Given the description of an element on the screen output the (x, y) to click on. 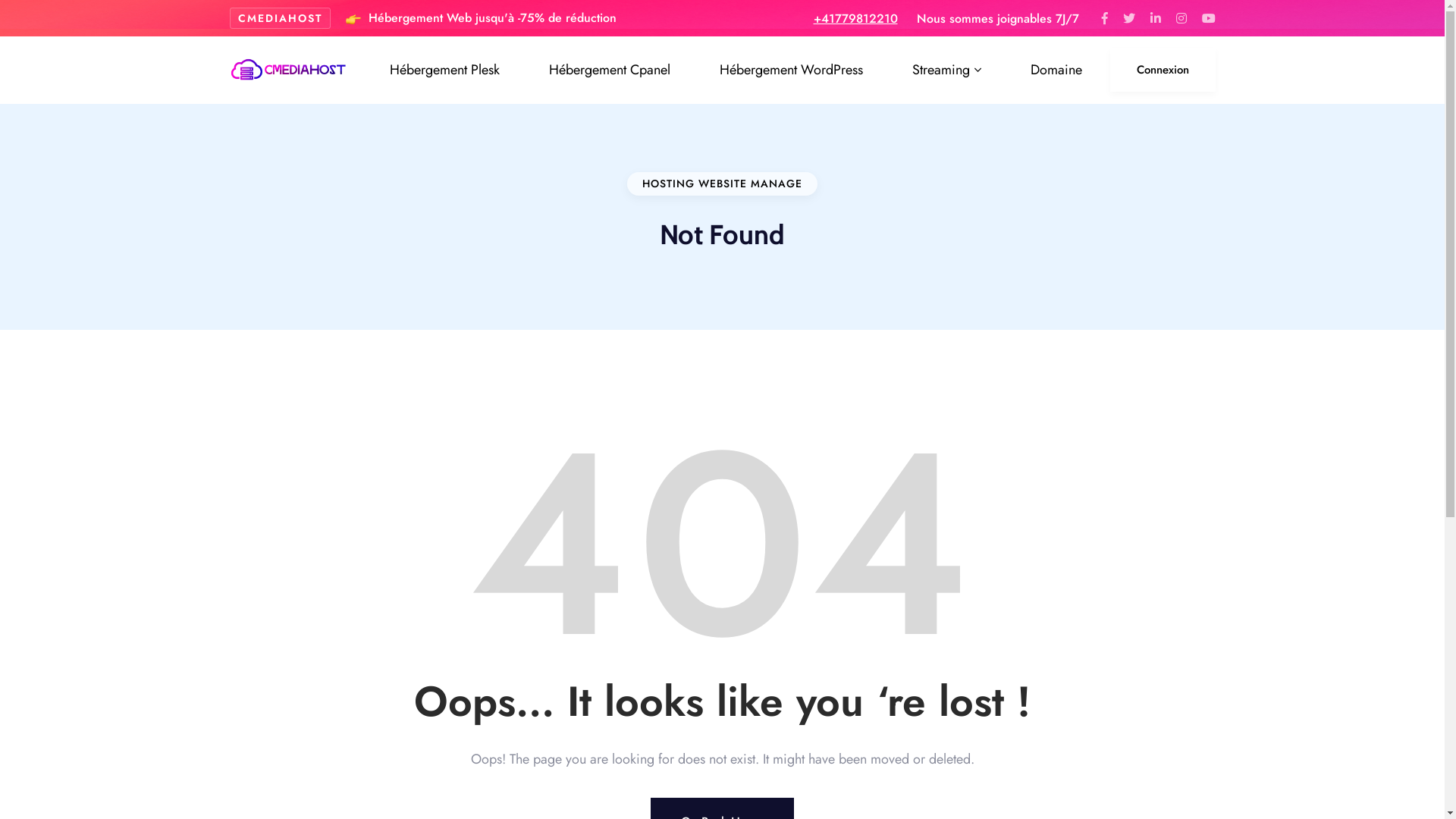
+41779812210 Element type: text (854, 17)
Connexion Element type: text (1162, 69)
Domaine Element type: text (1056, 69)
Streaming Element type: text (946, 69)
Nous sommes joignables 7J/7 Element type: text (997, 17)
